Given the description of an element on the screen output the (x, y) to click on. 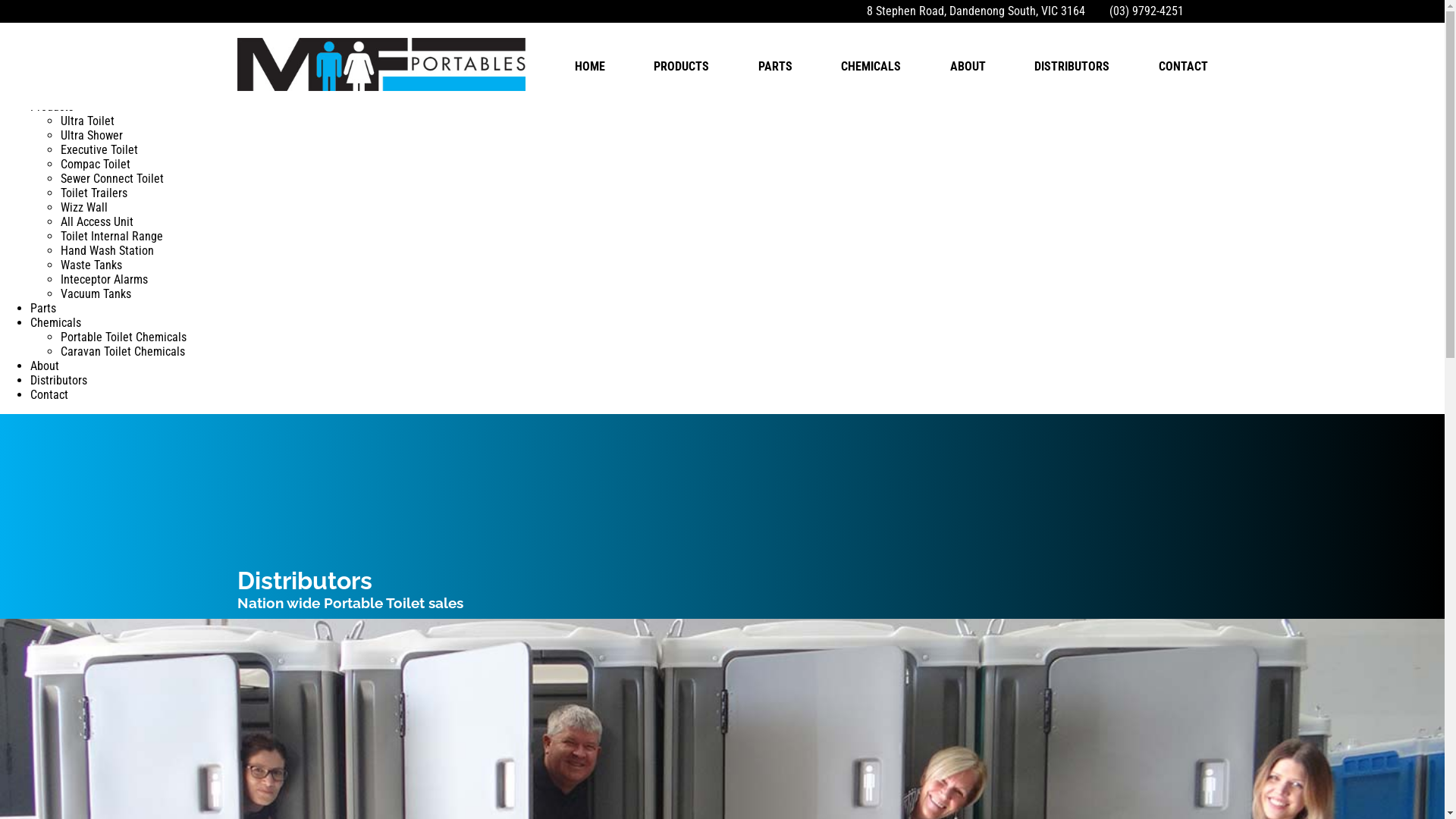
Distributors Element type: text (58, 380)
Toilet Trailers Element type: text (93, 192)
Compac Toilet Element type: text (95, 163)
Executive Toilet Element type: text (99, 149)
Products Element type: text (51, 106)
Caravan Toilet Chemicals Element type: text (122, 351)
  (03) 9792-4251 Element type: text (1142, 10)
Portable Toilet Chemicals Element type: text (123, 336)
ABOUT Element type: text (967, 66)
Ultra Shower Element type: text (91, 135)
PARTS Element type: text (775, 66)
Waste Tanks Element type: text (91, 264)
Inteceptor Alarms Element type: text (103, 279)
MF Portables Element type: hover (142, 46)
Vacuum Tanks Element type: text (95, 293)
DISTRIBUTORS Element type: text (1071, 66)
Sewer Connect Toilet Element type: text (111, 178)
CONTACT Element type: text (1183, 66)
Toilet Internal Range Element type: text (111, 236)
Hand Wash Station Element type: text (106, 250)
Parts Element type: text (43, 308)
HOME Element type: text (589, 66)
Home Element type: text (44, 91)
About Element type: text (44, 365)
Wizz Wall Element type: text (83, 207)
Ultra Toilet Element type: text (87, 120)
All Access Unit Element type: text (96, 221)
Contact Element type: text (49, 394)
Chemicals Element type: text (55, 322)
  8 Stephen Road, Dandenong South, VIC 3164 Element type: text (971, 10)
